Given the description of an element on the screen output the (x, y) to click on. 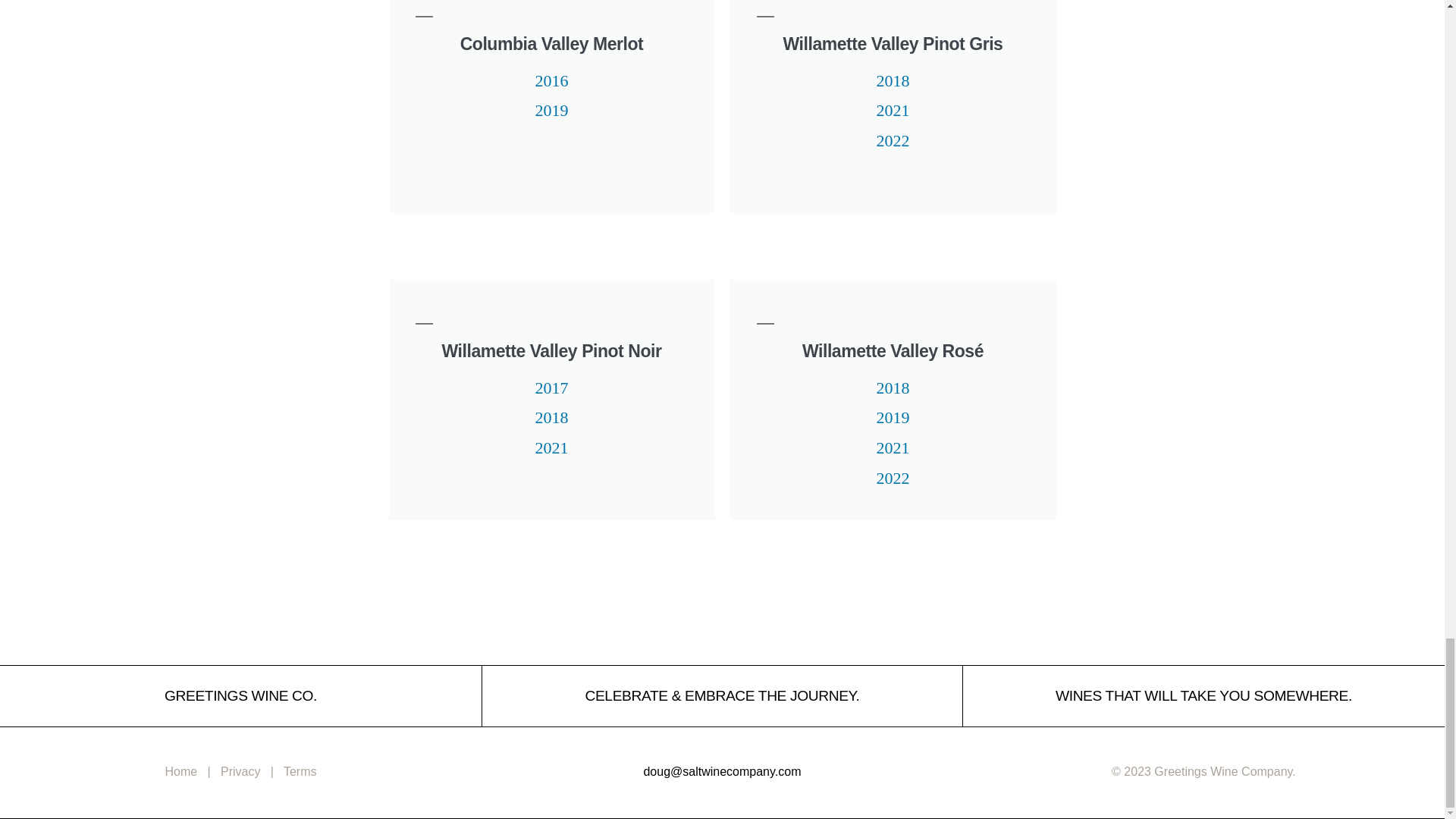
2019 (893, 417)
2018 (552, 417)
2017 (552, 387)
2018 (893, 387)
2016 (552, 80)
2021 (893, 447)
2022 (893, 140)
2022 (893, 477)
Home  (182, 771)
2019 (552, 110)
